Given the description of an element on the screen output the (x, y) to click on. 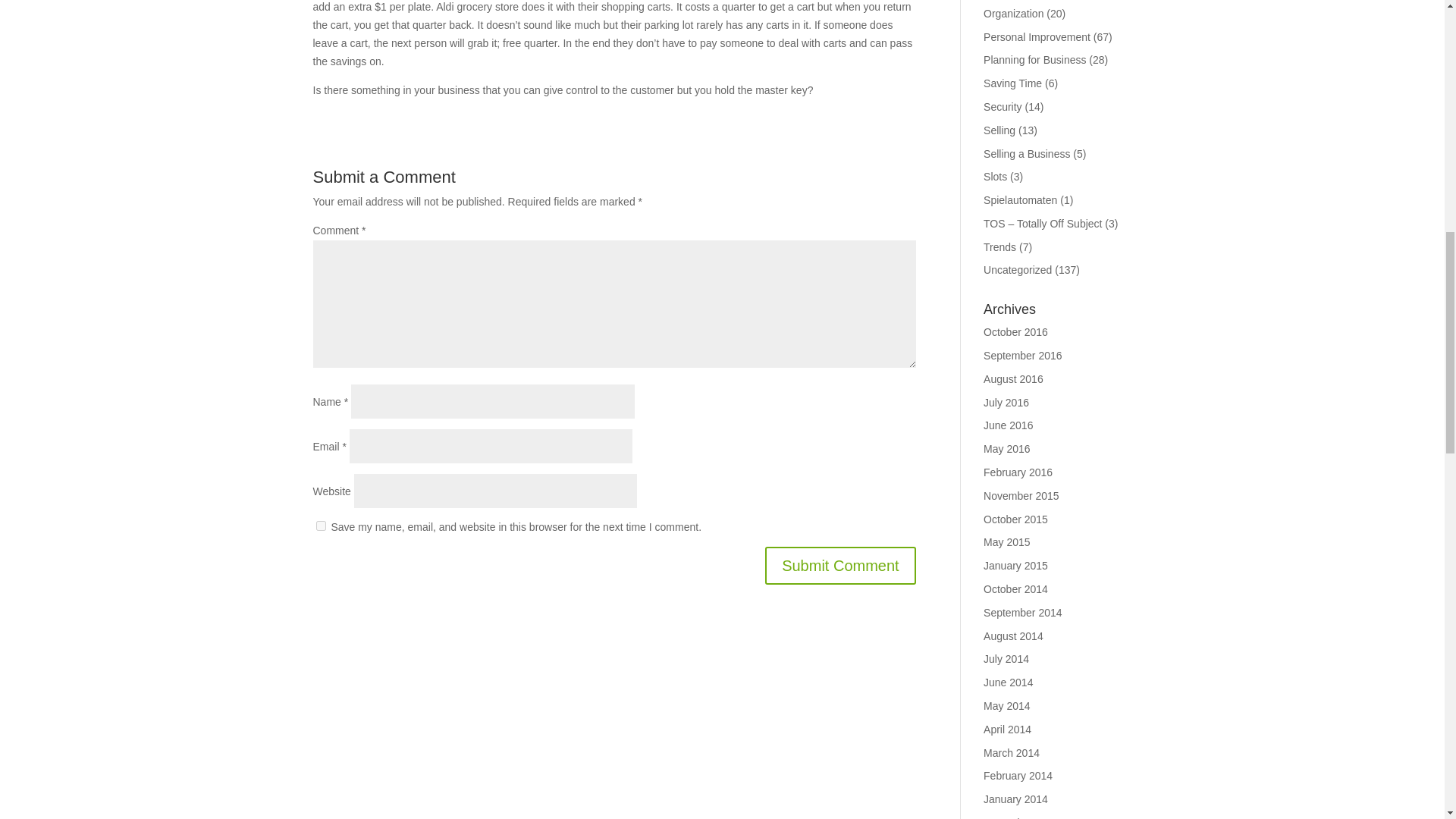
Submit Comment (840, 565)
Submit Comment (840, 565)
yes (319, 525)
